Given the description of an element on the screen output the (x, y) to click on. 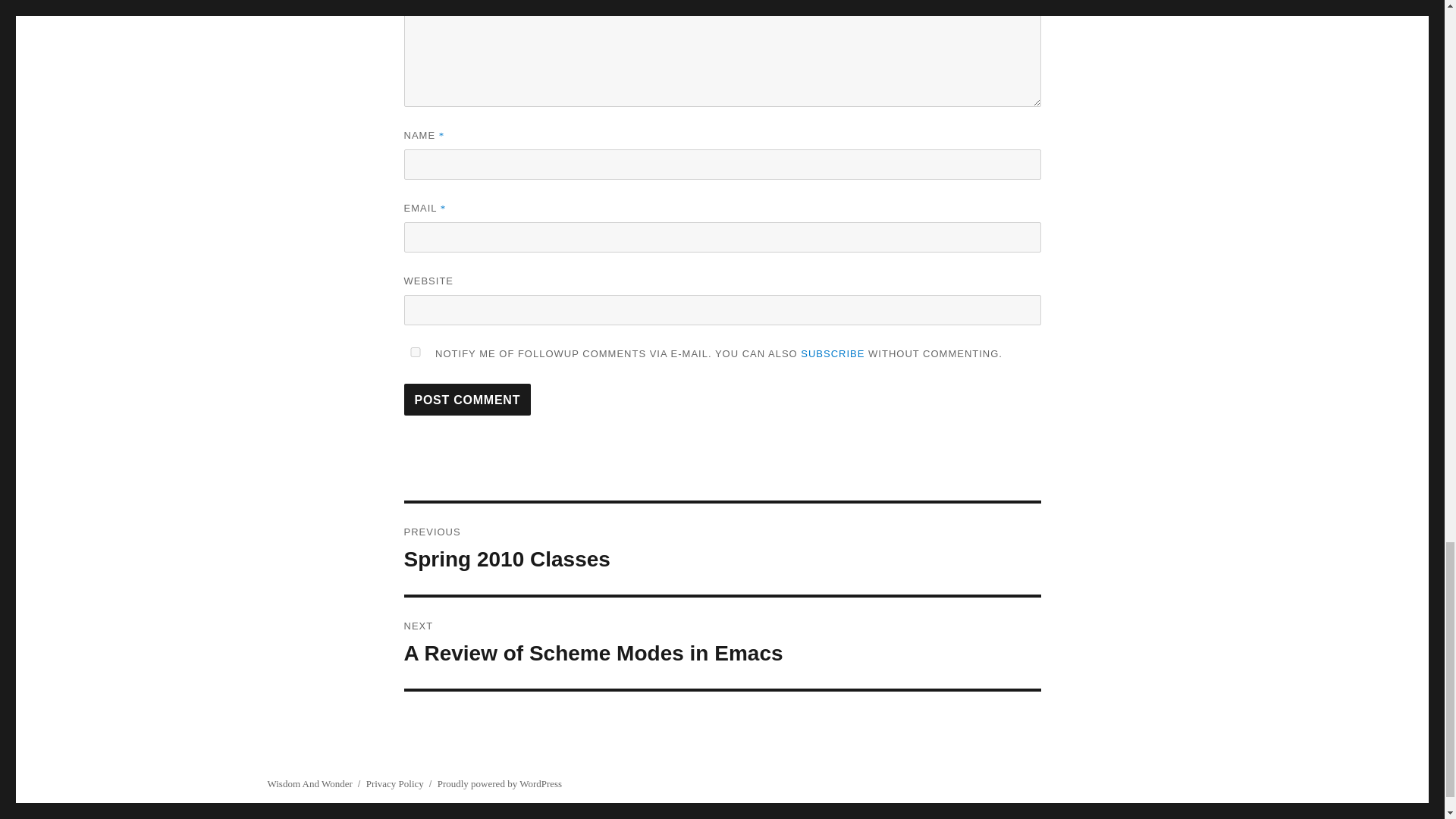
Post Comment (467, 399)
Wisdom And Wonder (309, 783)
yes (414, 352)
Post Comment (467, 399)
Privacy Policy (394, 783)
Proudly powered by WordPress (722, 642)
SUBSCRIBE (722, 548)
